Given the description of an element on the screen output the (x, y) to click on. 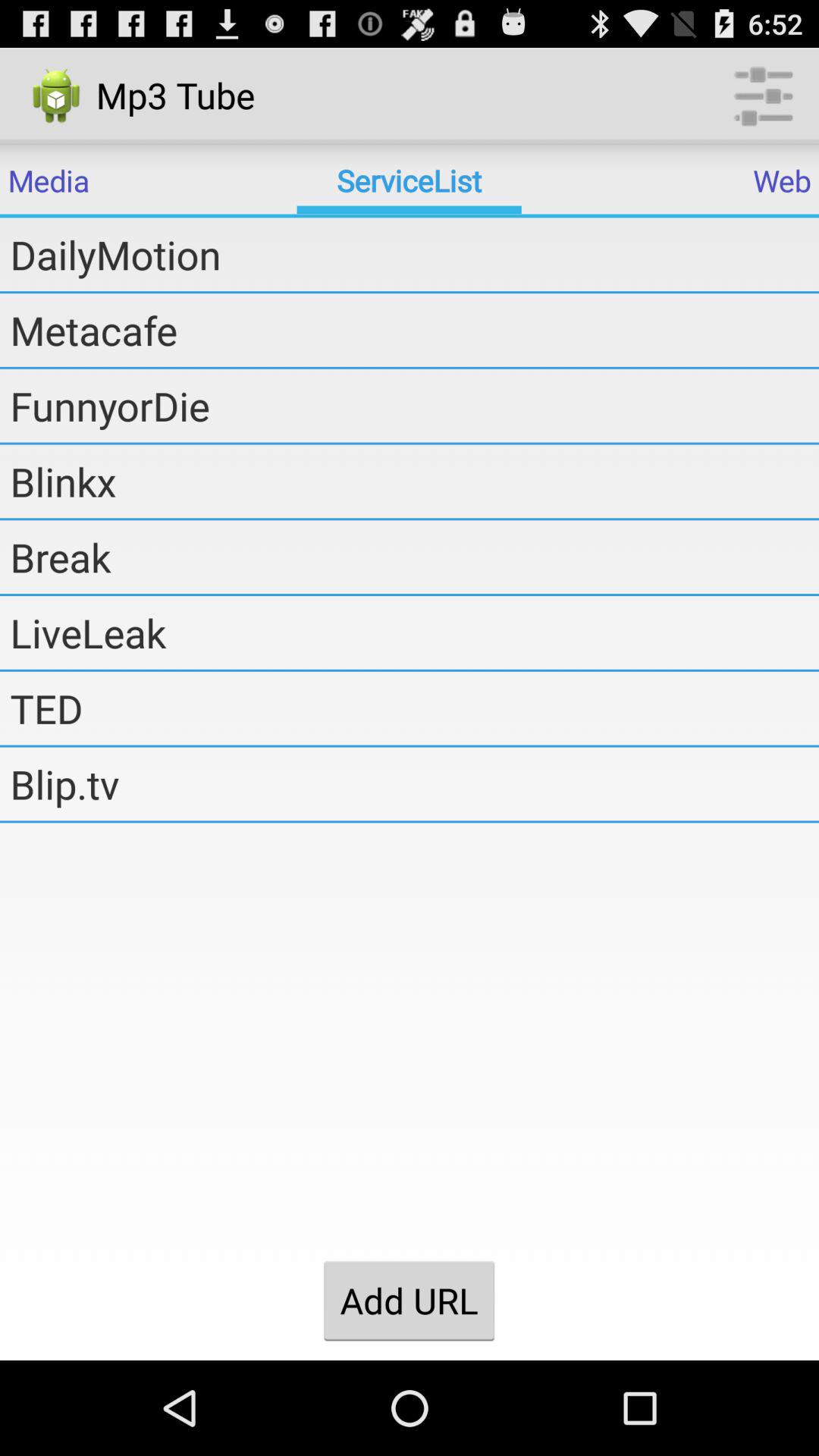
turn on the icon at the top right corner (763, 95)
